Given the description of an element on the screen output the (x, y) to click on. 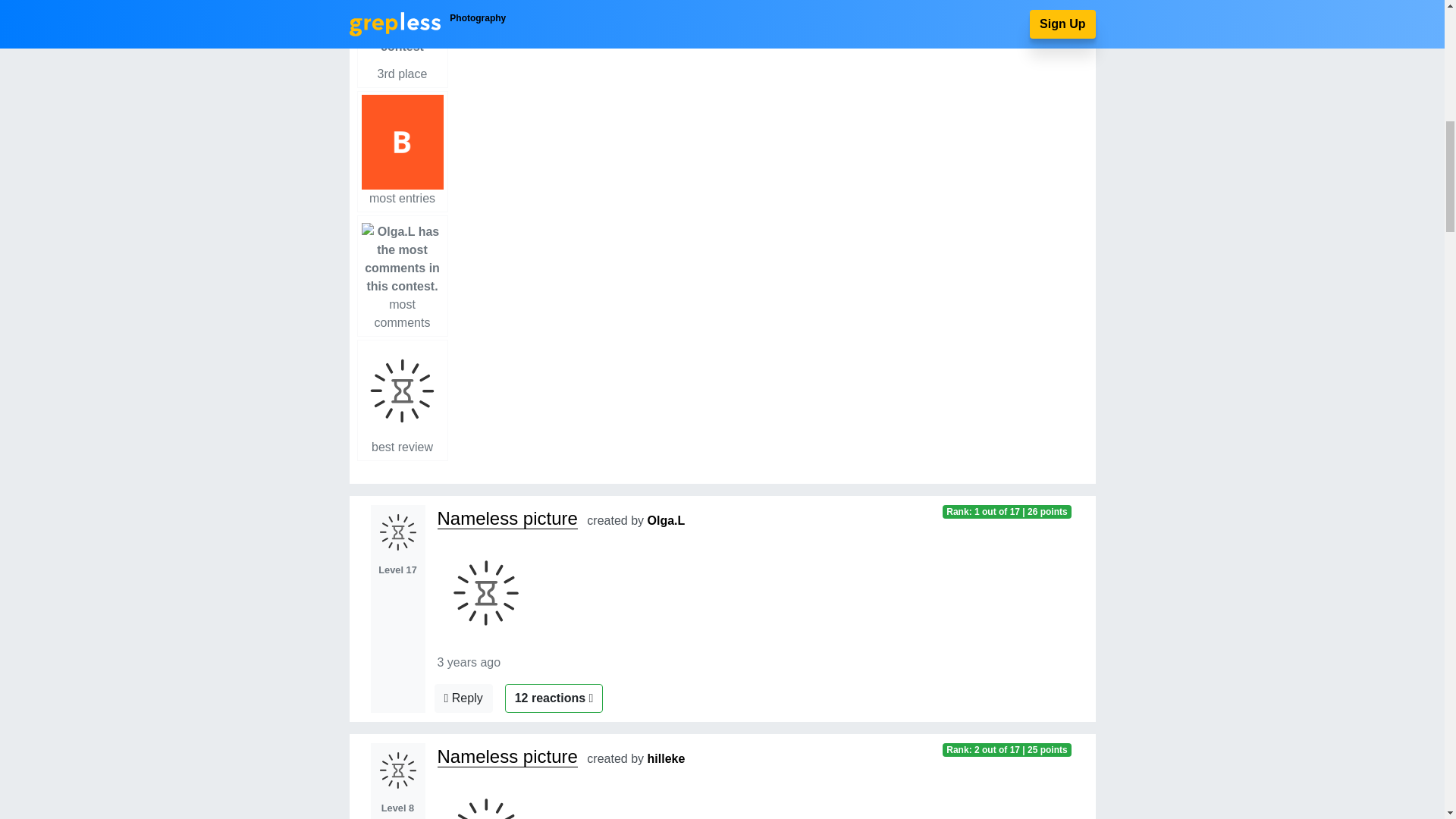
Nameless picture (401, 43)
Olga.L (506, 518)
Nameless picture (666, 520)
best review (506, 756)
most comments (401, 400)
hilleke (401, 275)
Answers to this response (666, 758)
Reply (462, 697)
most entries (462, 697)
12 reactions (401, 151)
